Given the description of an element on the screen output the (x, y) to click on. 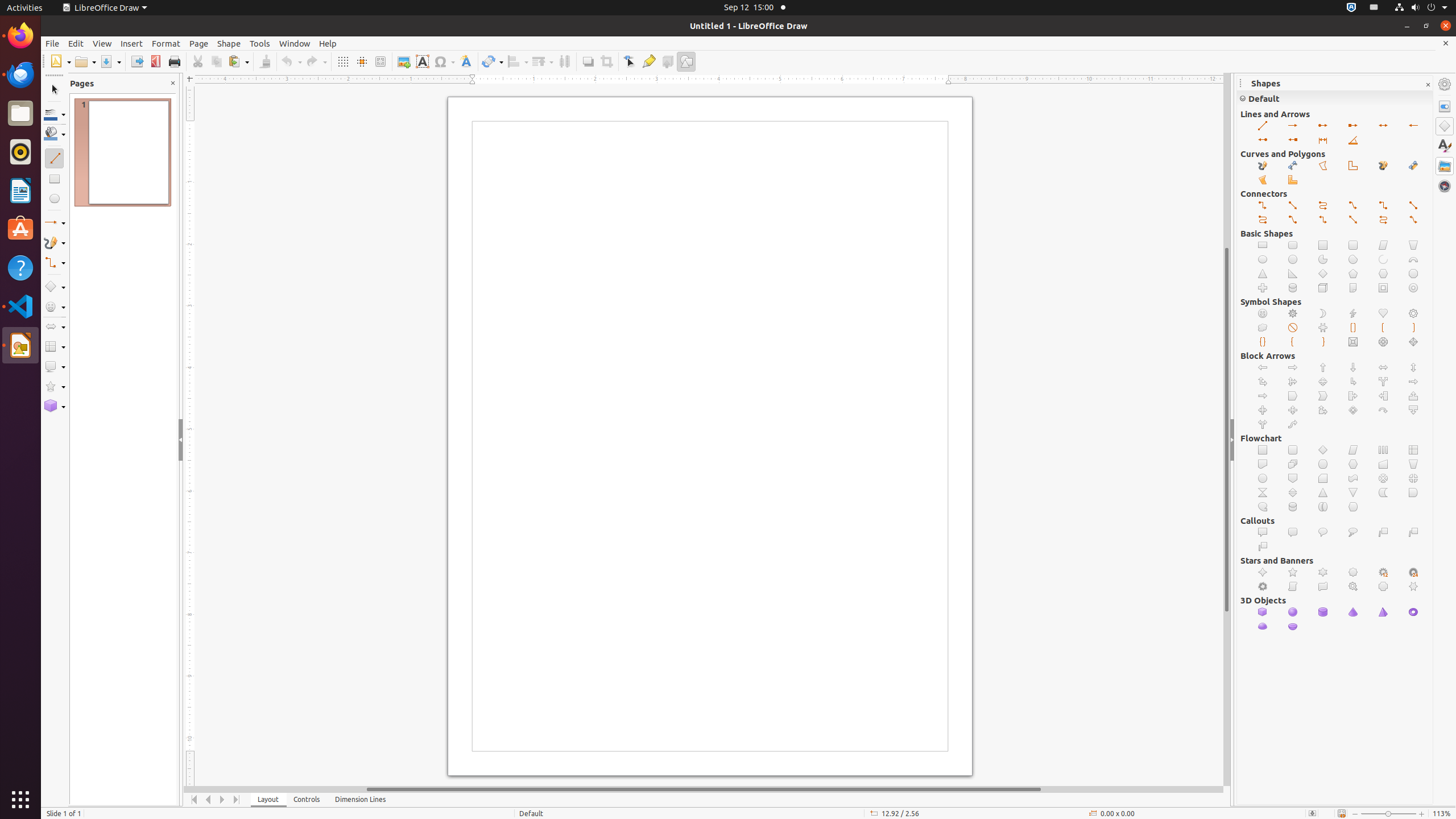
Vertical scroll bar Element type: scroll-bar (1226, 429)
Polygon, Filled Element type: list-item (1262, 179)
Crop Element type: push-button (606, 61)
Diamond Element type: list-item (1323, 273)
Line Connector Element type: list-item (1292, 219)
